Given the description of an element on the screen output the (x, y) to click on. 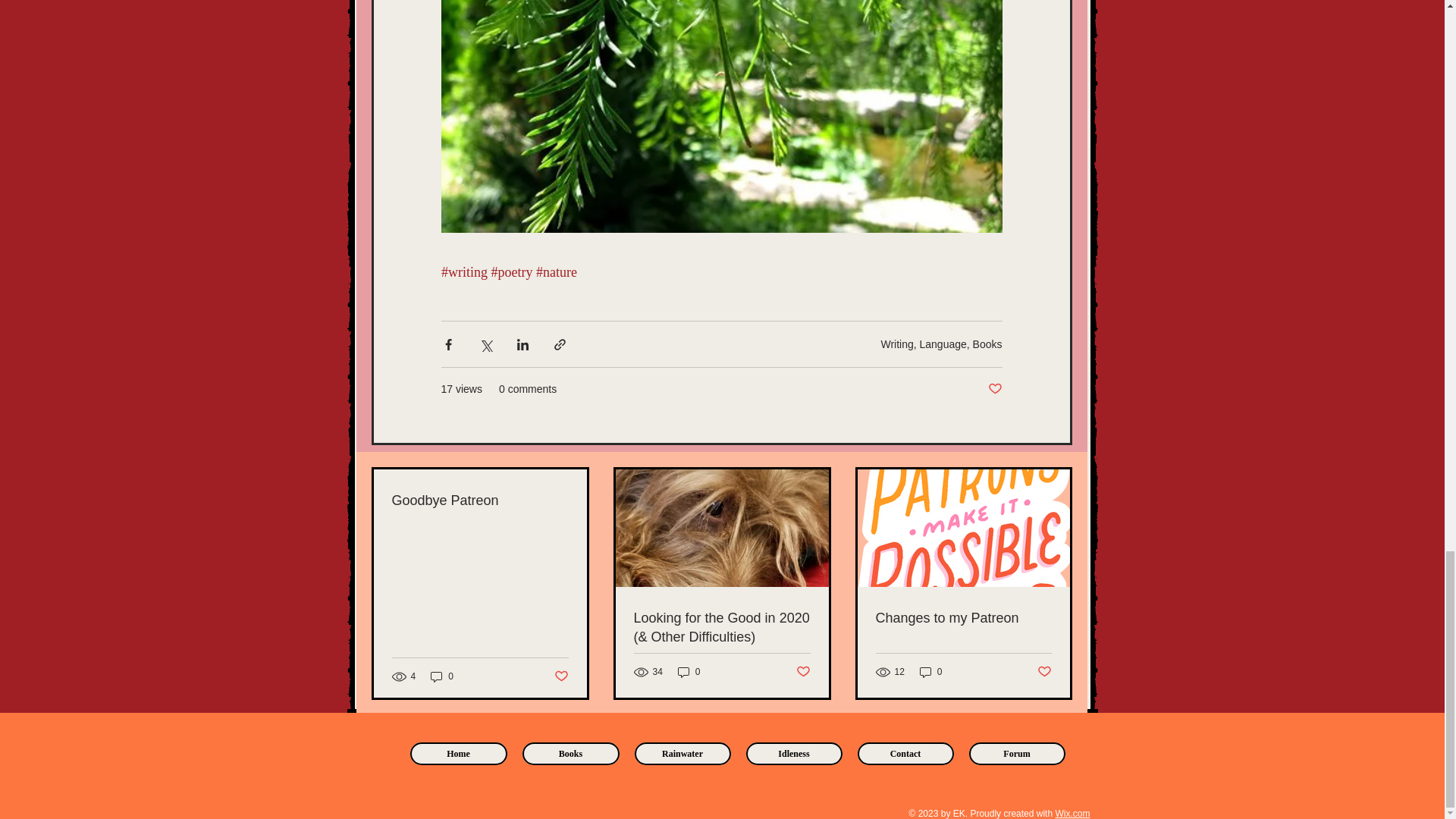
Post not marked as liked (560, 676)
Books (569, 753)
Home (457, 753)
0 (930, 672)
Post not marked as liked (994, 389)
Changes to my Patreon (963, 618)
Writing, Language, Books (940, 344)
Goodbye Patreon (479, 500)
0 (689, 672)
Rainwater (681, 753)
Contact (905, 753)
Forum (1017, 753)
0 (441, 676)
Idleness (794, 753)
Post not marked as liked (803, 672)
